Given the description of an element on the screen output the (x, y) to click on. 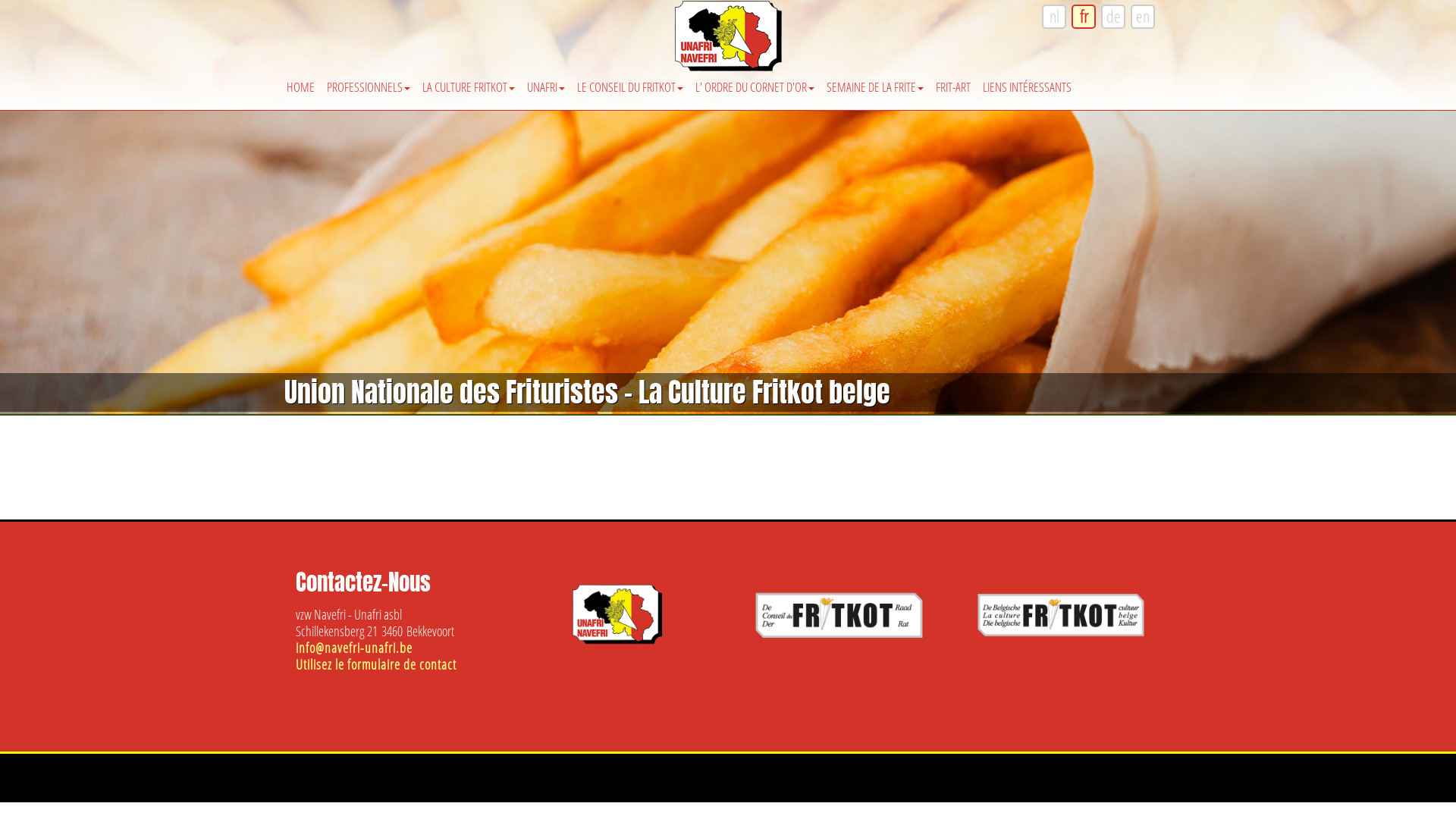
FRIT-ART Element type: text (952, 80)
HOME Element type: text (300, 80)
de Element type: text (1112, 16)
info@navefri-unafri.be Element type: text (353, 647)
LA CULTURE FRITKOT Element type: text (468, 80)
L' ORDRE DU CORNET D'OR Element type: text (754, 80)
en Element type: text (1142, 16)
Utilisez le formulaire de contact Element type: text (375, 664)
LE CONSEIL DU FRITKOT Element type: text (630, 80)
UNAFRI Element type: text (545, 80)
PROFESSIONNELS Element type: text (368, 80)
SEMAINE DE LA FRITE Element type: text (874, 80)
nl Element type: text (1053, 16)
